Given the description of an element on the screen output the (x, y) to click on. 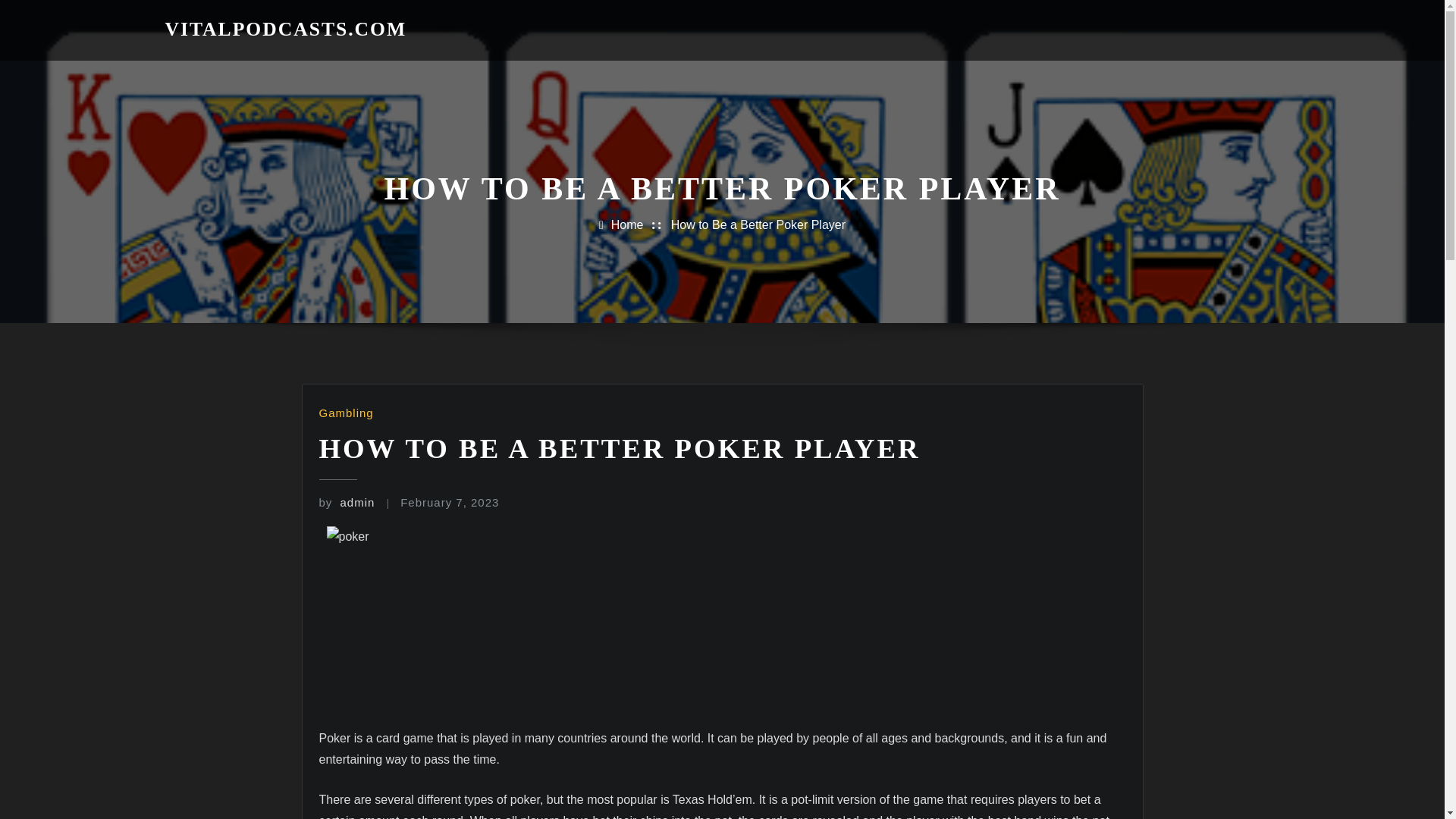
VITALPODCASTS.COM (286, 29)
How to Be a Better Poker Player (758, 224)
Gambling (345, 412)
February 7, 2023 (449, 502)
Home (627, 224)
by admin (346, 502)
